Given the description of an element on the screen output the (x, y) to click on. 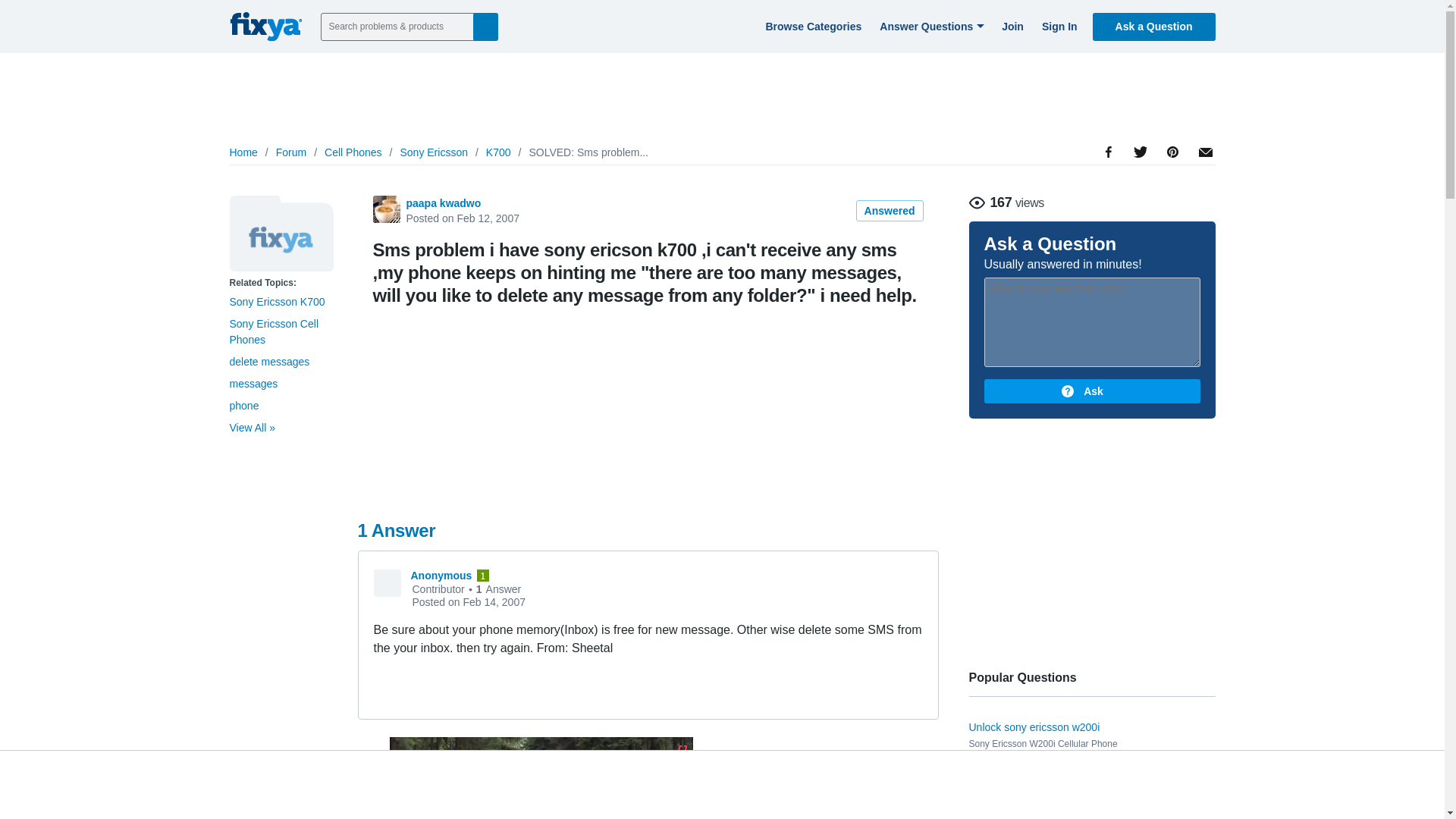
Browse Categories (810, 26)
Sign In (1056, 26)
Home (242, 152)
Cell Phones (352, 152)
messages (253, 383)
phone (243, 405)
Search Fixya (485, 26)
Search Fixya (485, 26)
Sony Ericsson K700 (276, 301)
delete messages (268, 361)
Ask a Question (1154, 26)
Sony Ericsson K700 (280, 233)
K700 (498, 152)
Sony Ericsson Cell Phones (273, 331)
